Given the description of an element on the screen output the (x, y) to click on. 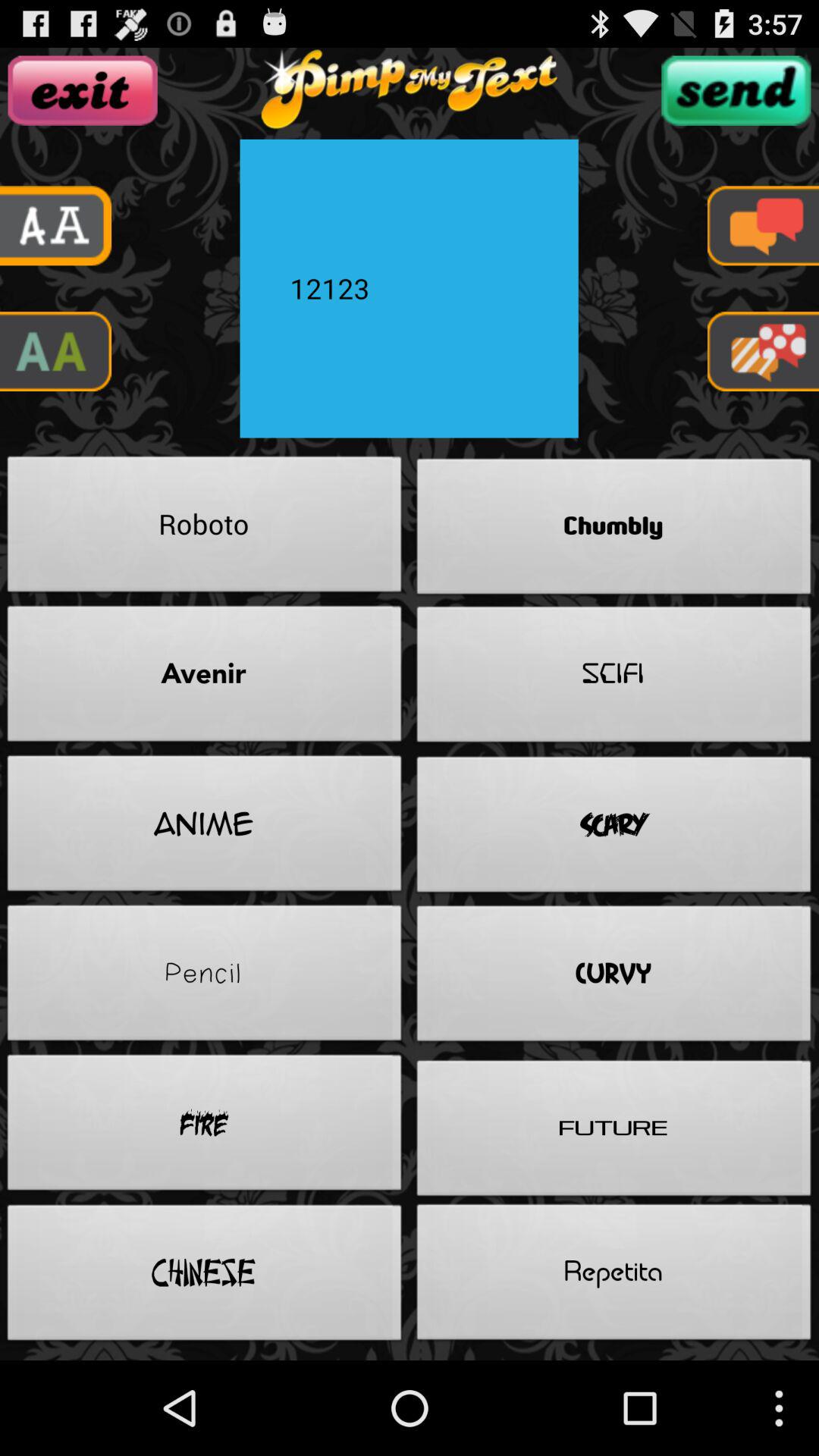
send message (736, 90)
